Given the description of an element on the screen output the (x, y) to click on. 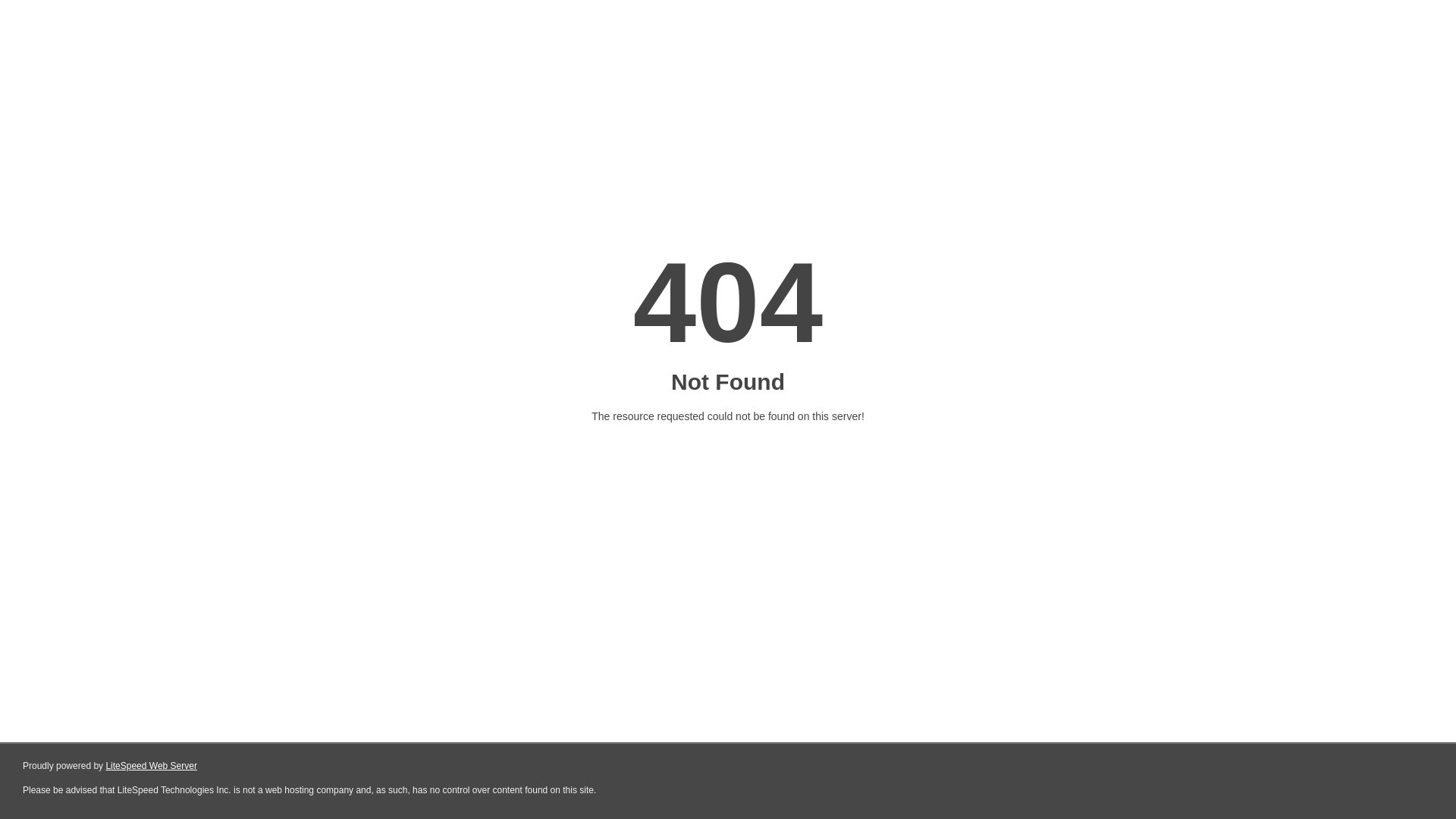
LiteSpeed Web Server Element type: text (151, 765)
